Given the description of an element on the screen output the (x, y) to click on. 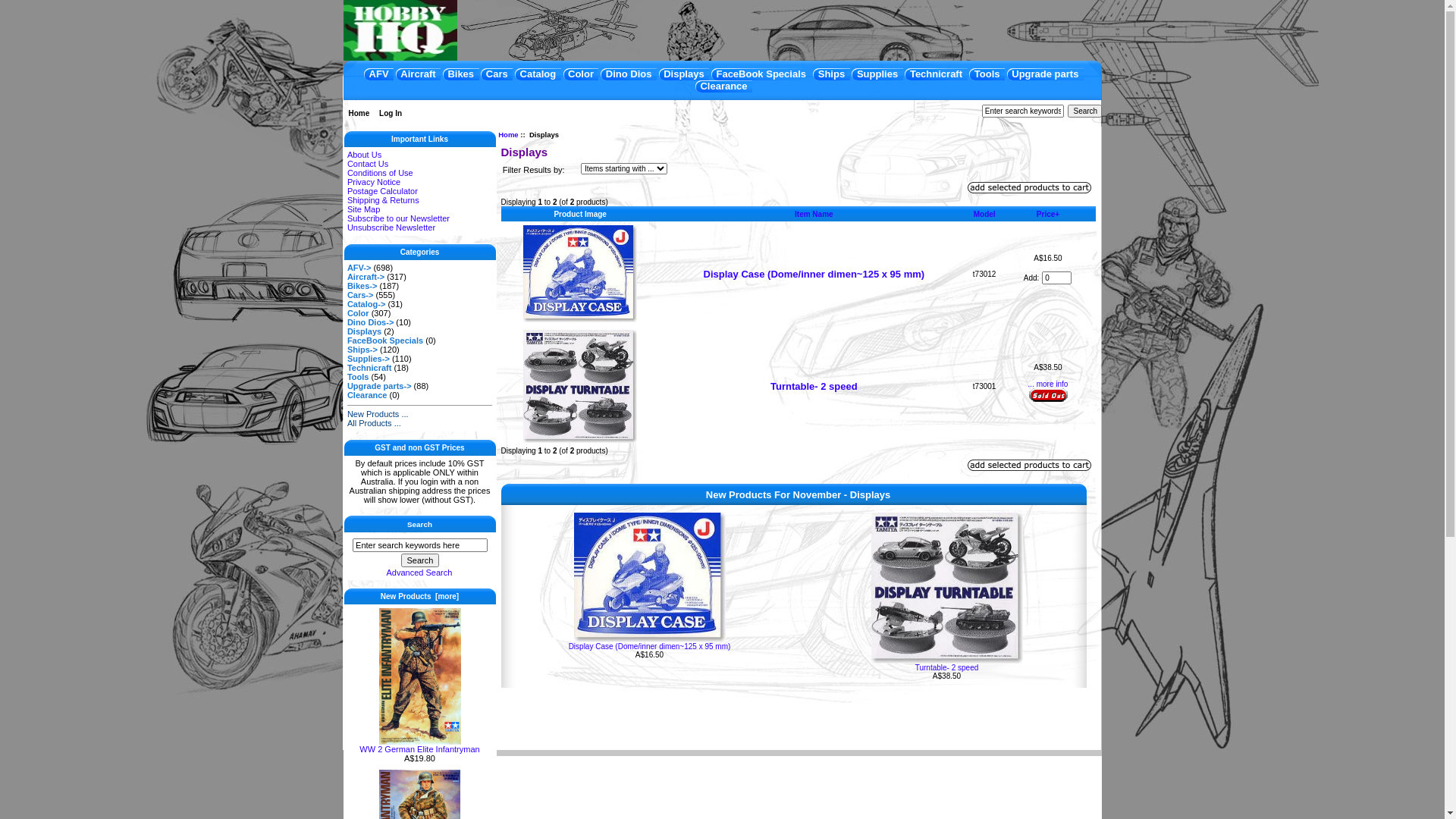
Upgrade parts-> Element type: text (379, 385)
Dino Dios-> Element type: text (370, 321)
Log In Element type: text (390, 113)
Subscribe to our Newsletter Element type: text (398, 217)
WW 2 German Elite Infantryman Element type: text (419, 745)
Home Element type: text (358, 113)
Tools Element type: text (358, 376)
All Products ... Element type: text (374, 422)
Supplies Element type: text (876, 74)
Supplies-> Element type: text (368, 358)
Displays Element type: text (683, 74)
Advanced Search Element type: text (419, 572)
Unsubscribe Newsletter Element type: text (391, 227)
... more info Element type: text (1048, 383)
 Turntable- 2 speed  Element type: hover (946, 587)
Cars Element type: text (496, 74)
Displays Element type: text (364, 330)
About Us Element type: text (364, 154)
Aircraft-> Element type: text (365, 276)
Ships-> Element type: text (362, 349)
Turntable- 2 speed Element type: text (947, 667)
AFV-> Element type: text (358, 267)
Clearance Element type: text (367, 394)
 Add Selected Products to Cart  Element type: hover (1029, 187)
Display Case (Dome/inner dimen~125 x 95 mm) Element type: text (814, 273)
Bikes Element type: text (460, 74)
Postage Calculator Element type: text (382, 190)
 Add Selected Products to Cart  Element type: hover (1029, 464)
FaceBook Specials Element type: text (385, 340)
Clearance Element type: text (723, 86)
Conditions of Use Element type: text (380, 172)
Display Case (Dome/inner dimen~125 x 95 mm) Element type: text (649, 646)
 WW 2 German Elite Infantryman  Element type: hover (420, 676)
New Products  [more] Element type: text (419, 596)
Price+ Element type: text (1047, 214)
 Sold Out  Element type: hover (1047, 394)
Catalog Element type: text (537, 74)
Bikes-> Element type: text (361, 285)
Model Element type: text (984, 214)
Search Element type: text (1084, 110)
 Display Case (Dome/inner dimen~125 x 95 mm)  Element type: hover (580, 273)
Technicraft Element type: text (369, 367)
Tools Element type: text (986, 74)
Search Element type: text (419, 560)
Item Name Element type: text (813, 214)
Home Element type: text (507, 134)
Turntable- 2 speed Element type: text (813, 386)
Shipping & Returns Element type: text (383, 199)
Ships Element type: text (830, 74)
Technicraft Element type: text (935, 74)
Dino Dios Element type: text (628, 74)
Catalog-> Element type: text (366, 303)
Upgrade parts Element type: text (1045, 74)
Contact Us Element type: text (367, 163)
AFV Element type: text (378, 74)
Color Element type: text (358, 312)
 Display Case (Dome/inner dimen~125 x 95 mm)  Element type: hover (648, 577)
Aircraft Element type: text (417, 74)
Cars-> Element type: text (360, 294)
FaceBook Specials Element type: text (761, 74)
 Turntable- 2 speed  Element type: hover (580, 385)
Site Map Element type: text (363, 208)
New Products ... Element type: text (377, 413)
Color Element type: text (581, 74)
Privacy Notice Element type: text (373, 181)
